Given the description of an element on the screen output the (x, y) to click on. 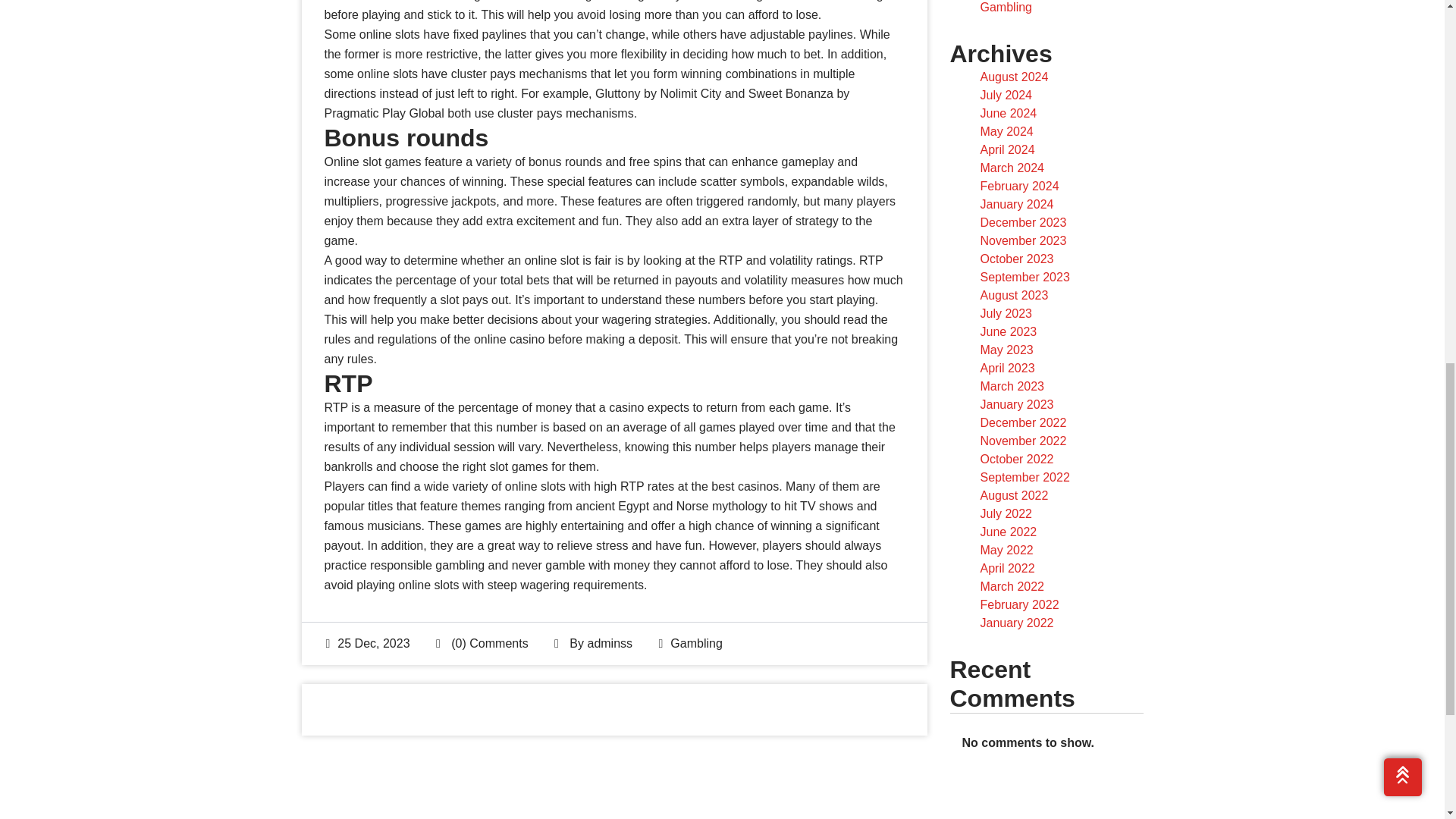
adminss (608, 643)
February 2024 (1018, 185)
25 Dec, 2023 (368, 643)
January 2023 (1015, 404)
November 2023 (1022, 240)
June 2024 (1007, 113)
April 2023 (1006, 367)
June 2023 (1007, 331)
March 2023 (1011, 386)
May 2024 (1005, 131)
